Given the description of an element on the screen output the (x, y) to click on. 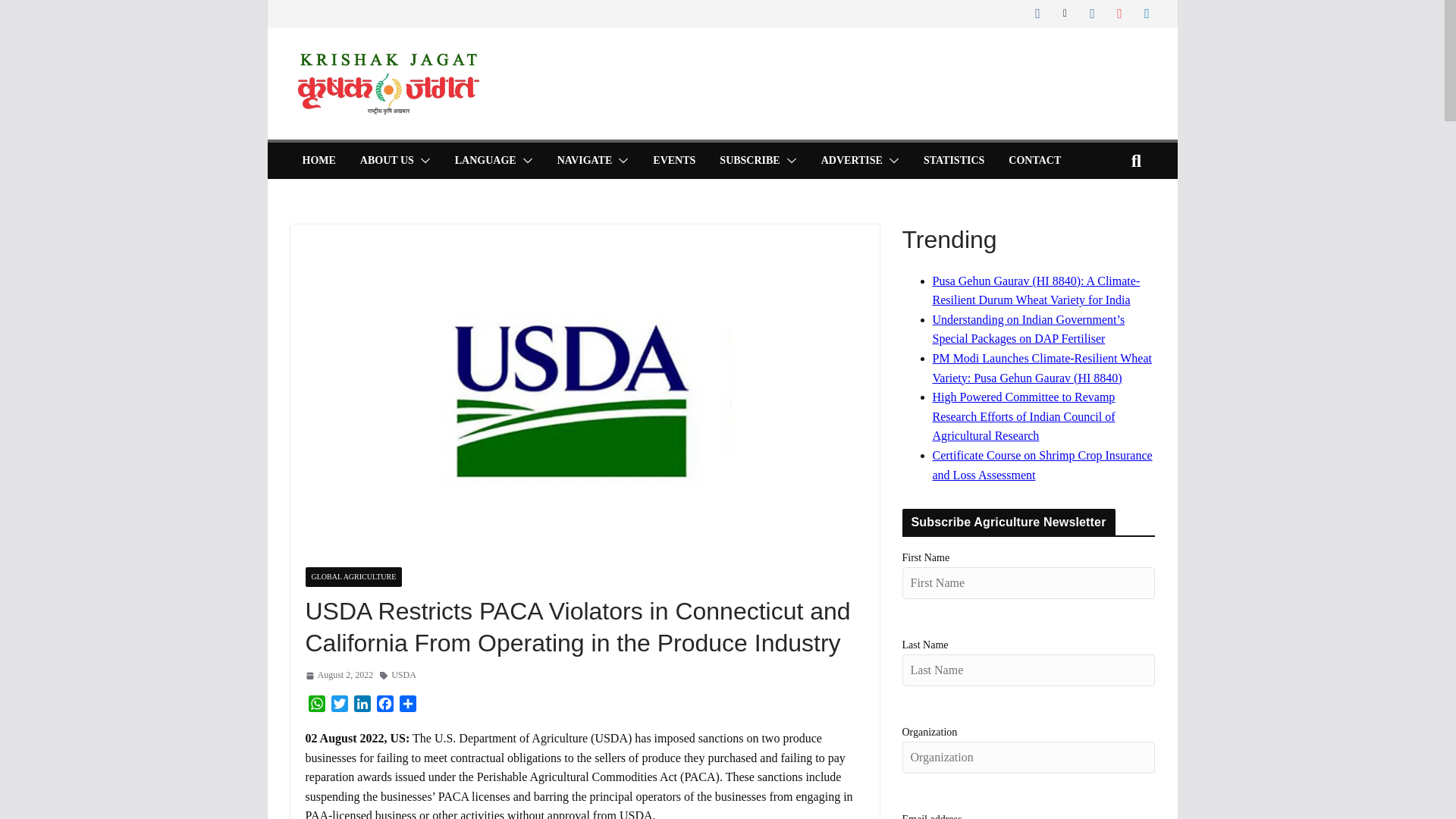
SUBSCRIBE (748, 160)
ADVERTISE (851, 160)
LinkedIn (361, 705)
WhatsApp (315, 705)
EVENTS (673, 160)
LANGUAGE (485, 160)
ABOUT US (386, 160)
Twitter (338, 705)
10:42 pm (338, 675)
HOME (317, 160)
